Given the description of an element on the screen output the (x, y) to click on. 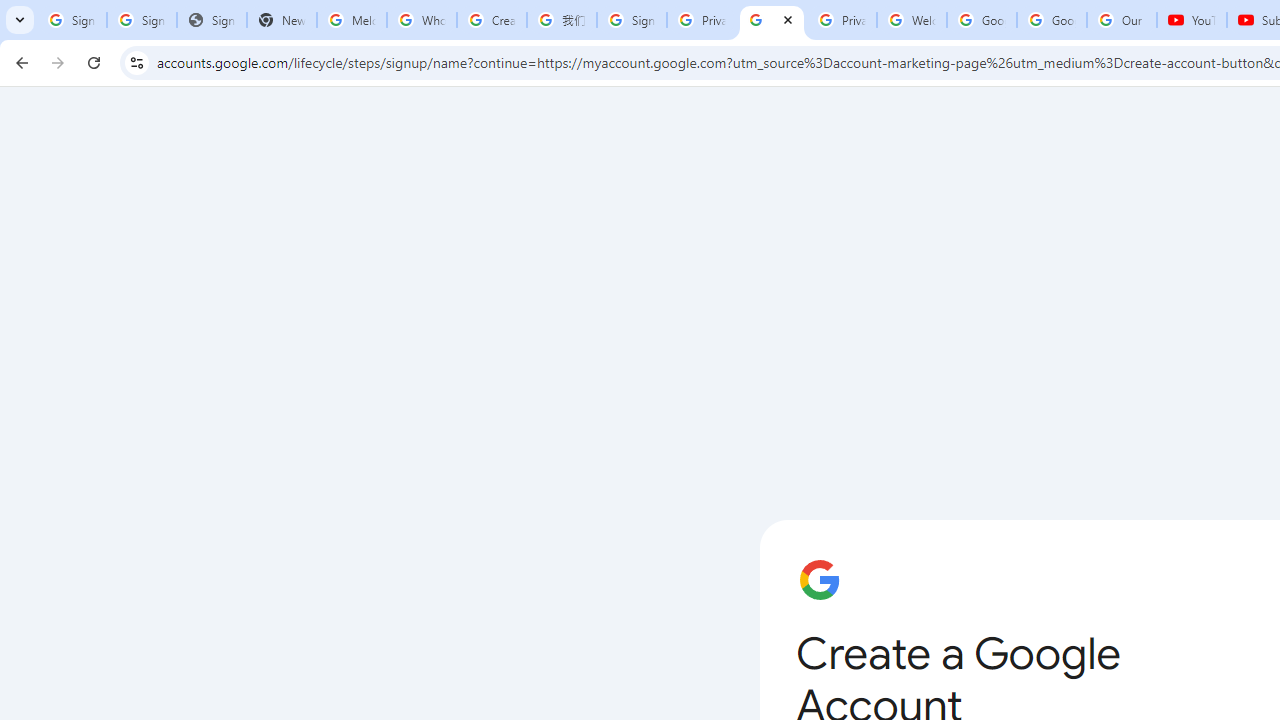
Welcome to My Activity (911, 20)
Who is my administrator? - Google Account Help (421, 20)
New Tab (282, 20)
